Given the description of an element on the screen output the (x, y) to click on. 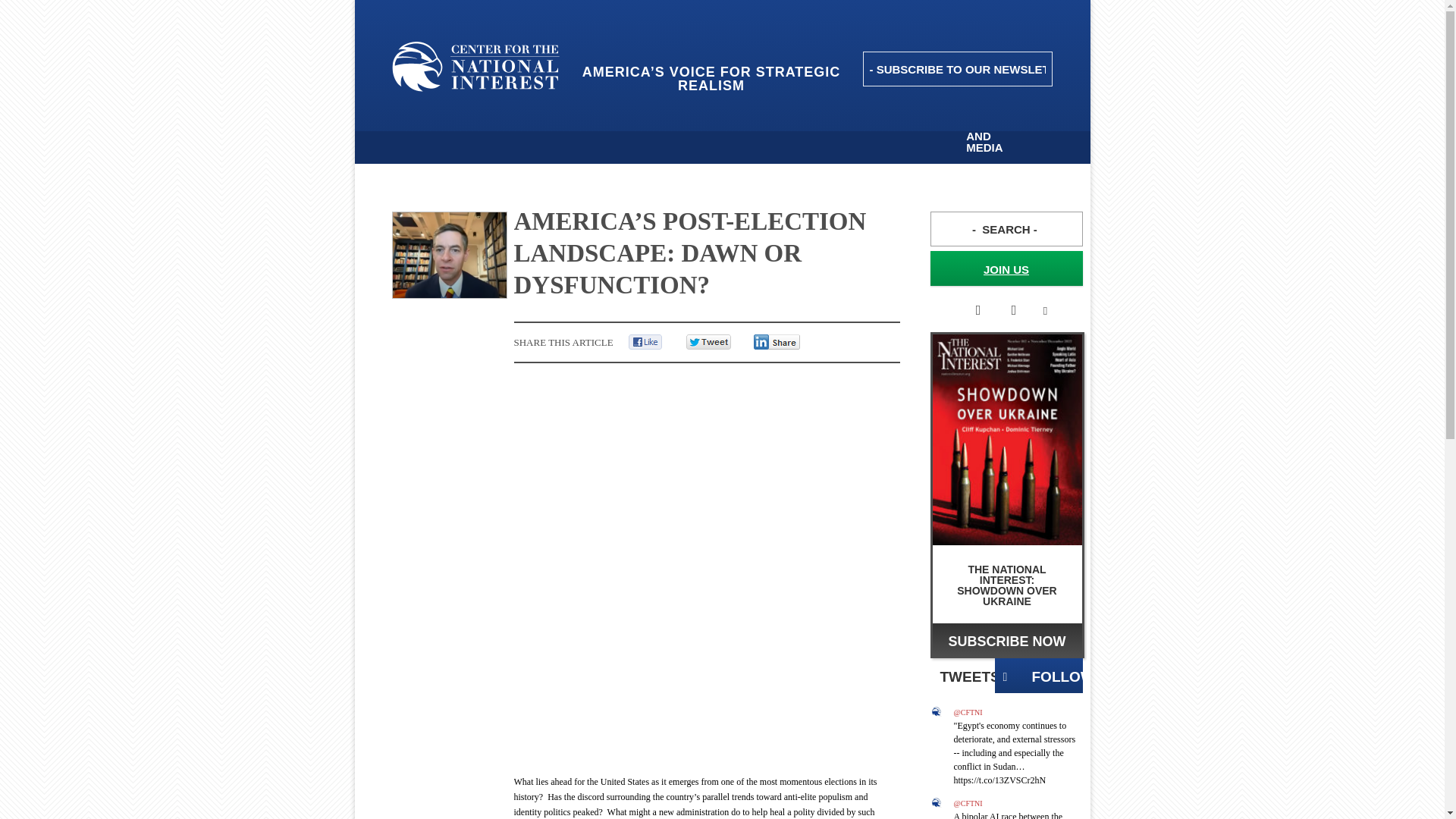
Be the first one to tweet this article! (724, 342)
PUBLICATIONS (764, 124)
PROGRAMS (672, 124)
CONTACT AND MEDIA (993, 135)
ABOUT (523, 124)
VIDEOS (845, 124)
EVENTS (593, 124)
JOIN US (1005, 267)
FOLLOW (1038, 675)
HOME (442, 124)
EXPERTS (918, 124)
